Given the description of an element on the screen output the (x, y) to click on. 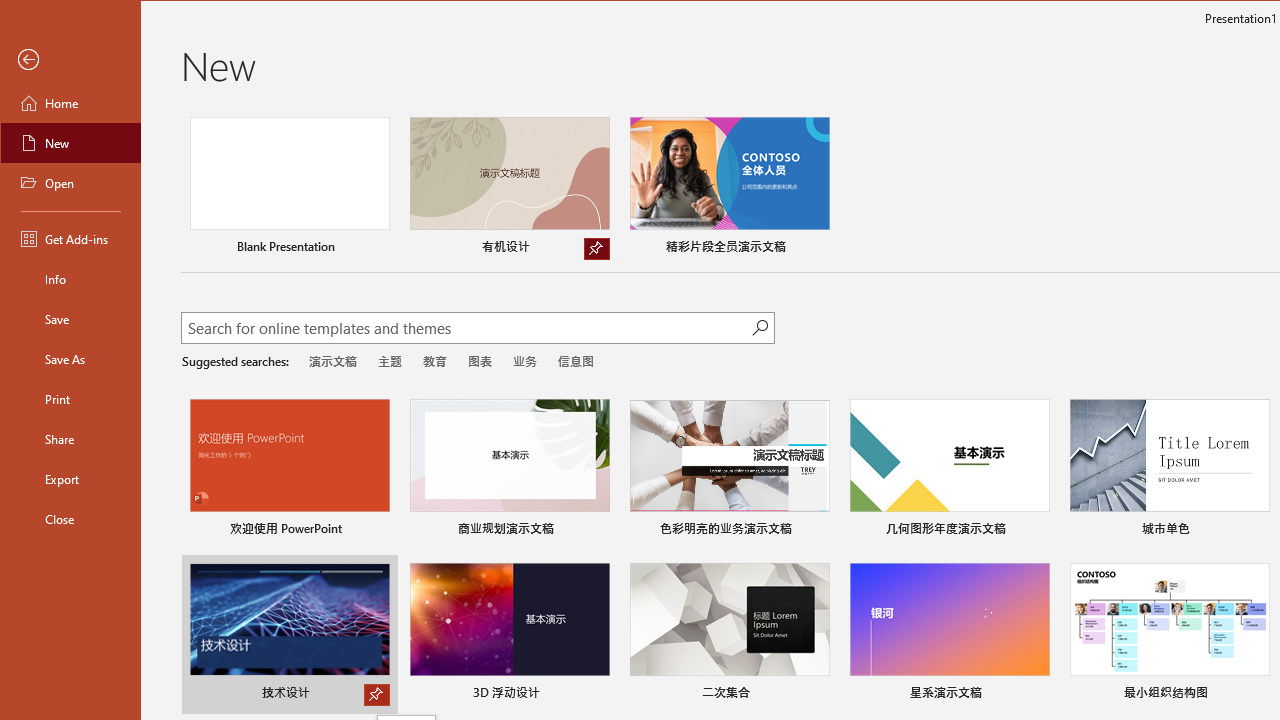
Blank Presentation (289, 187)
Back (70, 60)
